Given the description of an element on the screen output the (x, y) to click on. 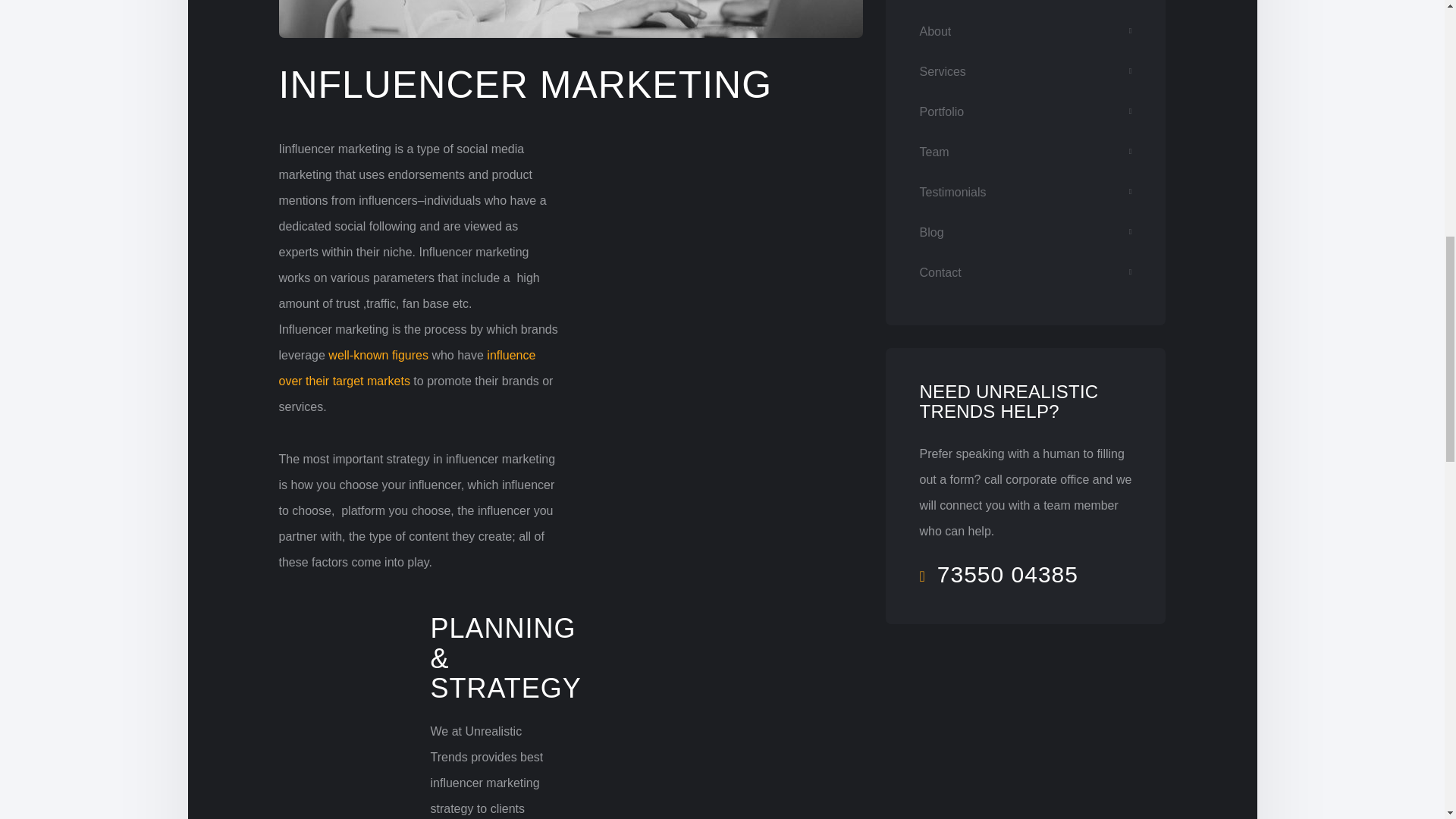
well-known figures (378, 354)
About (1024, 31)
73550 04385 (998, 574)
Contact (1024, 272)
Portfolio (1024, 112)
Blog (1024, 232)
Contact (1024, 272)
Services (1024, 72)
Portfolio (1024, 112)
influence over their target markets (407, 367)
Dark Home New (1028, 4)
Services (1024, 72)
Team (1024, 152)
Team (1024, 152)
Testimonials (1024, 192)
